Given the description of an element on the screen output the (x, y) to click on. 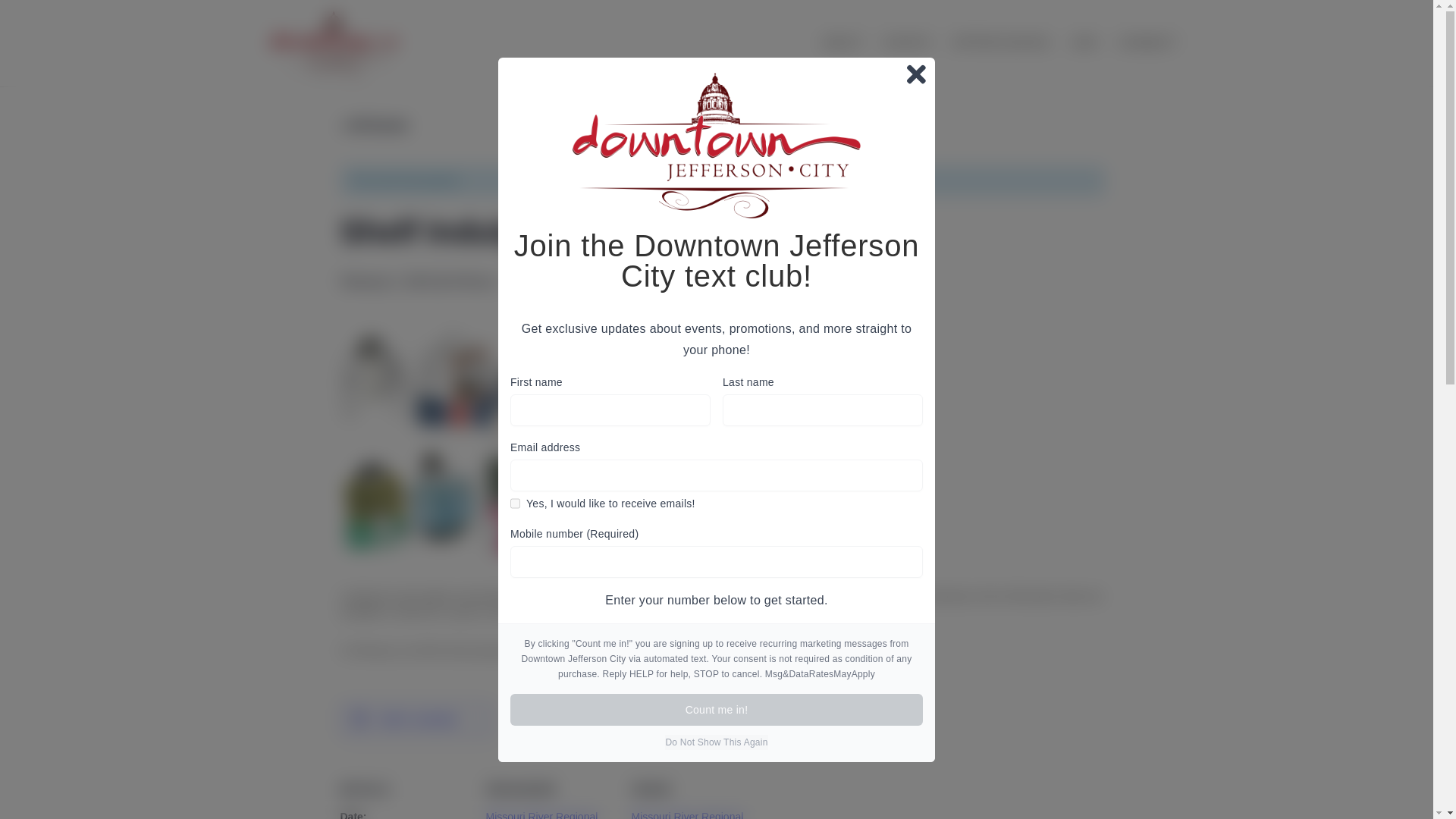
Missouri River Regional Library (540, 814)
CONNECT (1146, 61)
on (515, 503)
Missouri River Regional Library (540, 814)
Missouri River Regional Library (686, 814)
EVENTS (907, 61)
JOIN (1083, 61)
OPPORTUNITIES (1000, 61)
ABOUT (842, 61)
Add to calendar (418, 719)
